Given the description of an element on the screen output the (x, y) to click on. 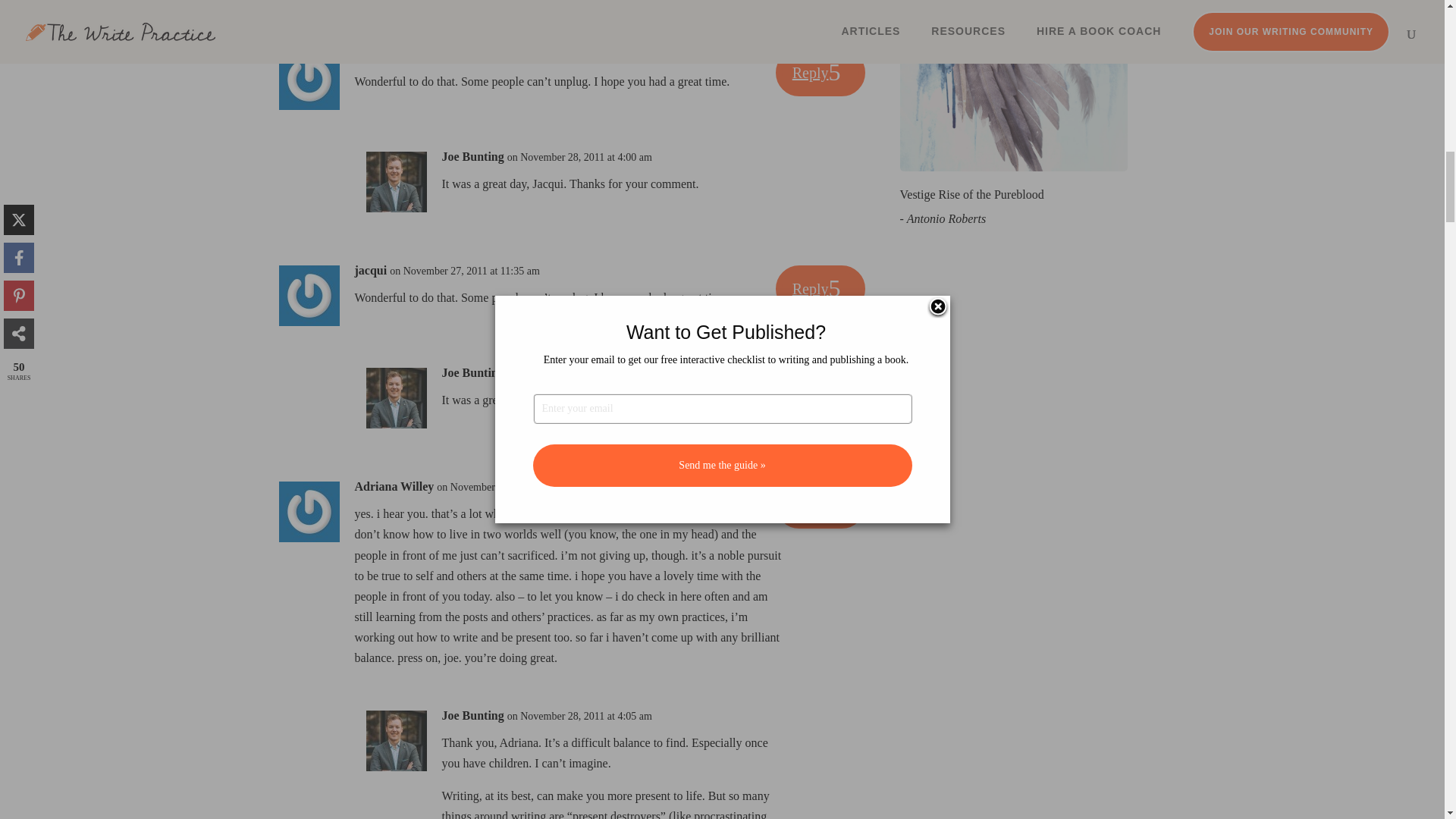
Reply (820, 72)
Vestige Rise of the Pureblood (971, 194)
Jacqui (371, 54)
